Given the description of an element on the screen output the (x, y) to click on. 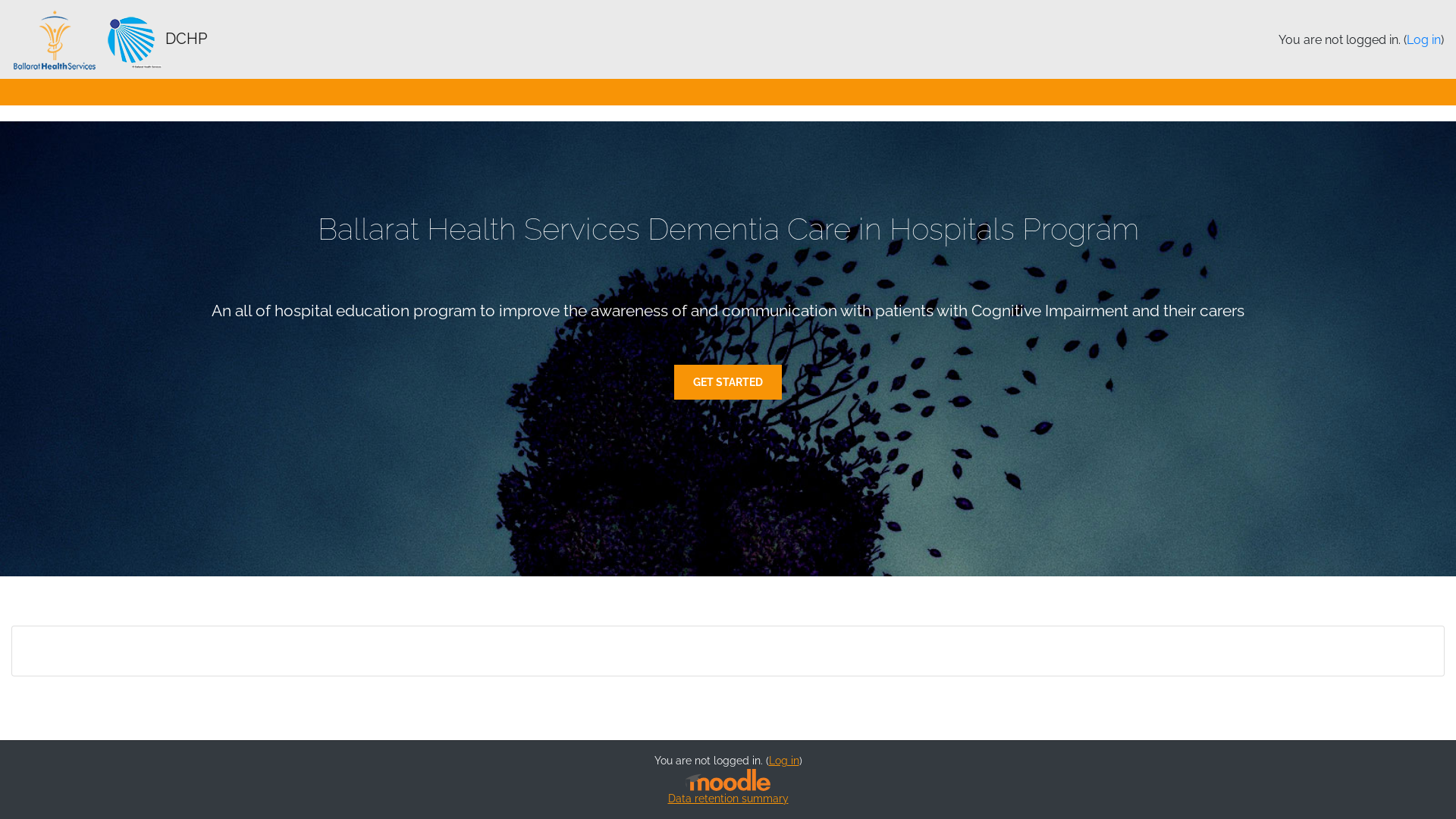
Log in Element type: text (1423, 39)
GET STARTED Element type: text (727, 381)
Moodle Element type: hover (727, 779)
Data retention summary Element type: text (727, 798)
DCHP Element type: text (109, 40)
Log in Element type: text (783, 760)
